Given the description of an element on the screen output the (x, y) to click on. 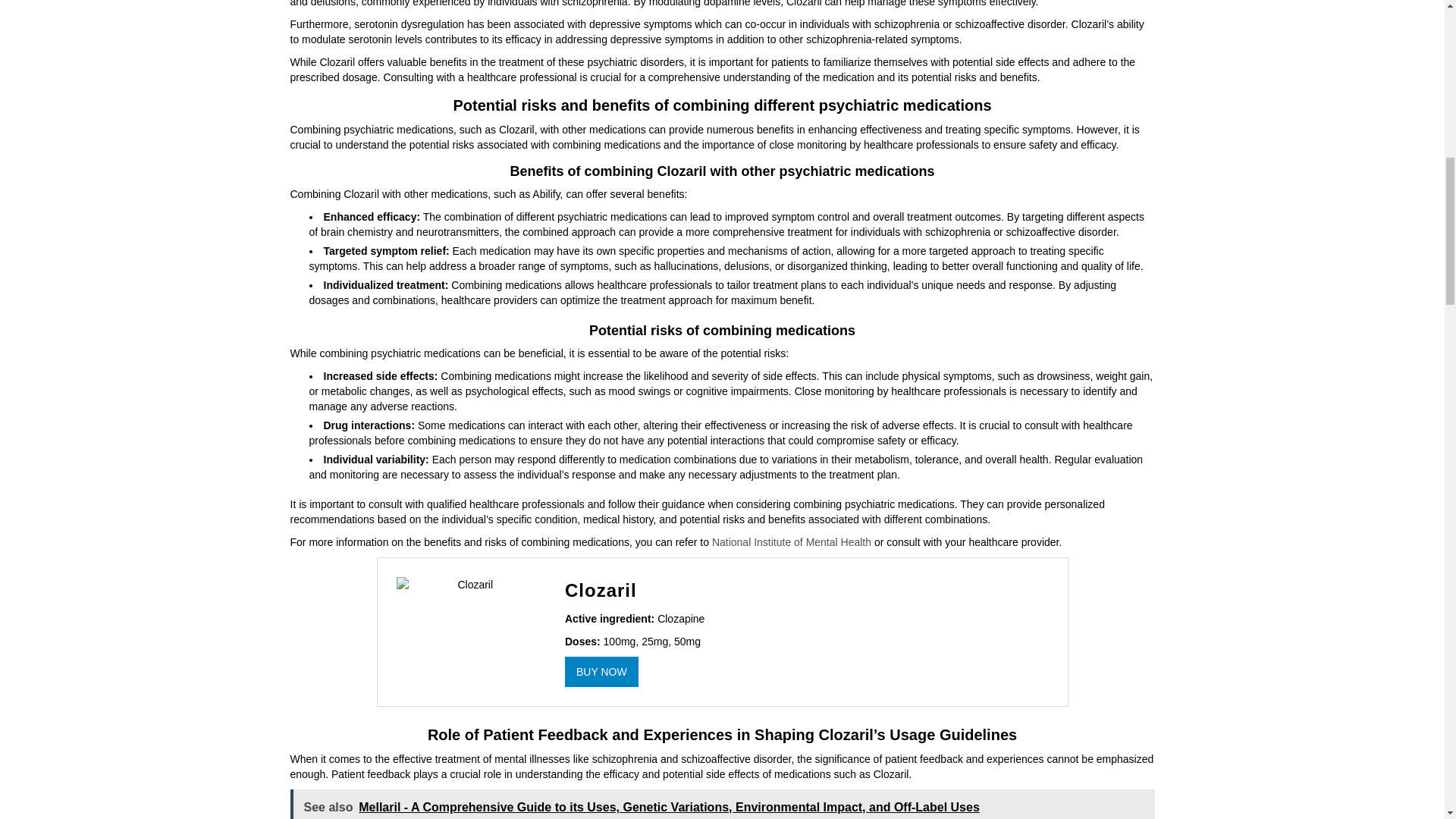
National Institute of Mental Health (790, 541)
Buy Now (601, 671)
BUY NOW (601, 671)
